Given the description of an element on the screen output the (x, y) to click on. 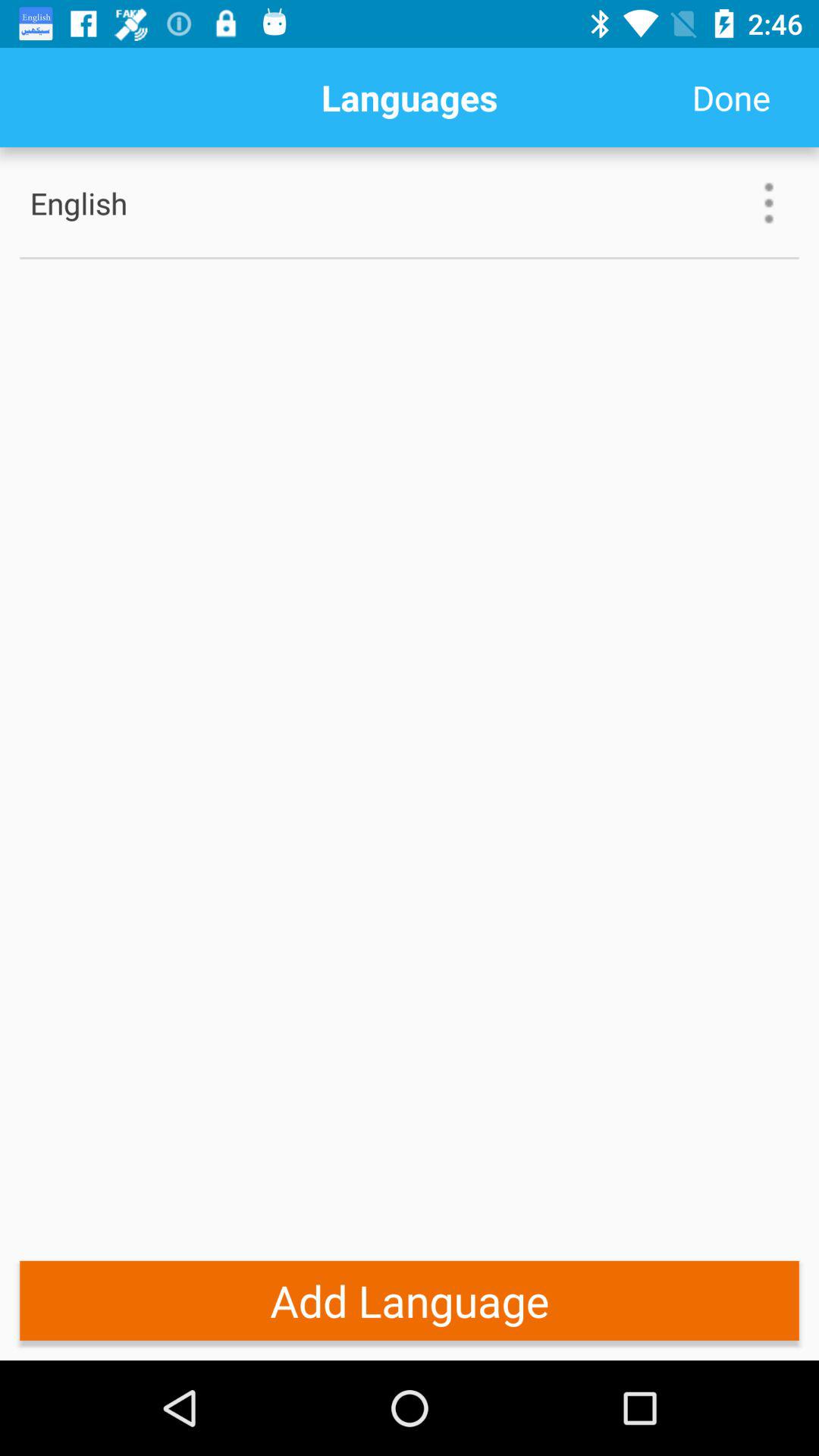
launch the item next to the languages (731, 97)
